Given the description of an element on the screen output the (x, y) to click on. 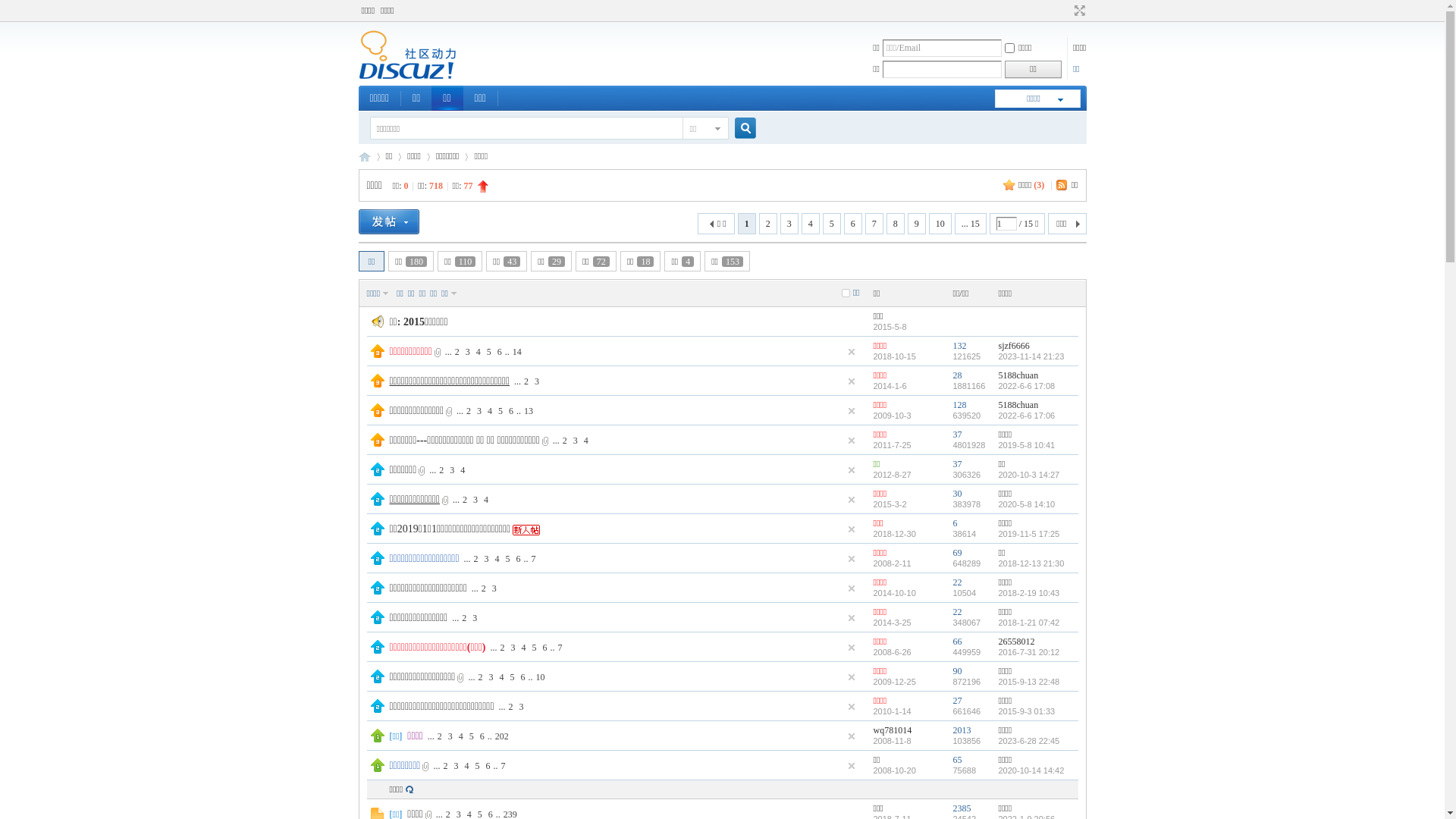
6 Element type: text (510, 410)
3 Element type: text (512, 646)
3 Element type: text (478, 410)
5 Element type: text (533, 646)
7 Element type: text (533, 558)
3 Element type: text (455, 764)
3 Element type: text (467, 350)
2015-9-3 01:33 Element type: text (1025, 710)
6 Element type: text (487, 764)
3 Element type: text (575, 440)
30 Element type: text (956, 493)
3 Element type: text (494, 587)
22 Element type: text (956, 611)
2023-6-28 22:45 Element type: text (1028, 740)
2 Element type: text (464, 499)
9 Element type: text (916, 223)
3 Element type: text (475, 499)
5 Element type: text (476, 764)
2 Element type: text (564, 440)
5 Element type: text (507, 558)
10 Element type: text (539, 677)
7 Element type: text (502, 764)
3 Element type: text (450, 736)
2018-12-13 21:30 Element type: text (1030, 562)
5 Element type: text (511, 677)
65 Element type: text (956, 759)
202 Element type: text (501, 736)
4 Element type: text (810, 223)
128 Element type: text (959, 404)
2020-5-8 14:10 Element type: text (1025, 503)
7 Element type: text (559, 646)
2020-10-14 14:42 Element type: text (1030, 770)
2022-6-6 17:08 Element type: text (1025, 385)
2018-2-19 10:43 Element type: text (1028, 592)
4 Element type: text (497, 558)
3 Element type: text (451, 469)
5 Element type: text (831, 223)
4 Element type: text (478, 350)
69 Element type: text (956, 552)
true Element type: text (738, 128)
2 Element type: text (768, 223)
66 Element type: text (956, 641)
6 Element type: text (518, 558)
3 Element type: text (521, 705)
2013 Element type: text (961, 729)
2 Element type: text (468, 410)
3 Element type: text (486, 558)
26558012 Element type: text (1015, 641)
sjzf6666 Element type: text (1013, 345)
7 Element type: text (874, 223)
6 Element type: text (481, 736)
5188chuan Element type: text (1017, 404)
2016-7-31 20:12 Element type: text (1028, 651)
4 Element type: text (485, 499)
2019-11-5 17:25 Element type: text (1028, 533)
10 Element type: text (939, 223)
4 Element type: text (500, 677)
2 Element type: text (483, 587)
2 Element type: text (479, 677)
5 Element type: text (488, 350)
2020-10-3 14:27 Element type: text (1028, 474)
37 Element type: text (956, 463)
5188chuan Element type: text (1017, 375)
2023-11-14 21:23 Element type: text (1030, 355)
2 Element type: text (439, 736)
4 Element type: text (585, 440)
28 Element type: text (956, 375)
2 Element type: text (501, 646)
6 Element type: text (544, 646)
2015-9-13 22:48 Element type: text (1028, 681)
6 Element type: text (954, 522)
2019-5-8 10:41 Element type: text (1025, 444)
3 Element type: text (536, 381)
22 Element type: text (956, 582)
8 Element type: text (895, 223)
2 Element type: text (441, 469)
2 Element type: text (510, 705)
4 Element type: text (462, 469)
6 Element type: text (499, 350)
37 Element type: text (956, 434)
6 Element type: text (522, 677)
2 Element type: text (525, 381)
2 Element type: text (475, 558)
90 Element type: text (956, 670)
4 Element type: text (489, 410)
4 Element type: text (466, 764)
2022-6-6 17:06 Element type: text (1025, 415)
wq781014 Element type: text (892, 729)
14 Element type: text (516, 350)
3 Element type: text (474, 617)
6 Element type: text (853, 223)
4 Element type: text (460, 736)
2018-1-21 07:42 Element type: text (1028, 622)
2 Element type: text (444, 764)
5 Element type: text (471, 736)
3 Element type: text (490, 677)
2 Element type: text (463, 617)
4 Element type: text (522, 646)
2 Element type: text (456, 350)
... 15 Element type: text (970, 223)
132 Element type: text (959, 345)
13 Element type: text (528, 410)
2385 Element type: text (961, 808)
27 Element type: text (956, 700)
3 Element type: text (789, 223)
5 Element type: text (500, 410)
